Given the description of an element on the screen output the (x, y) to click on. 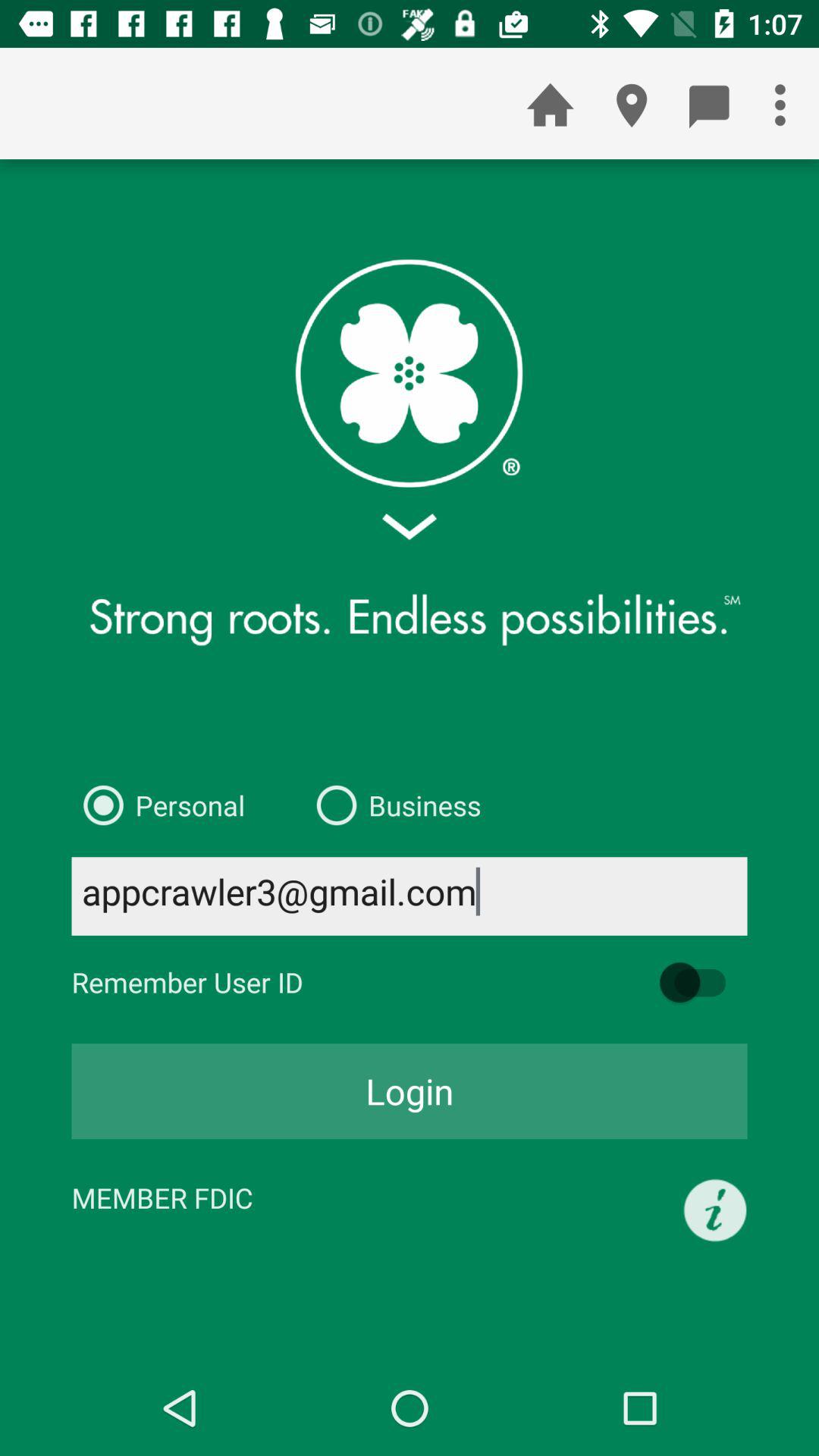
press the item below the login icon (715, 1210)
